Given the description of an element on the screen output the (x, y) to click on. 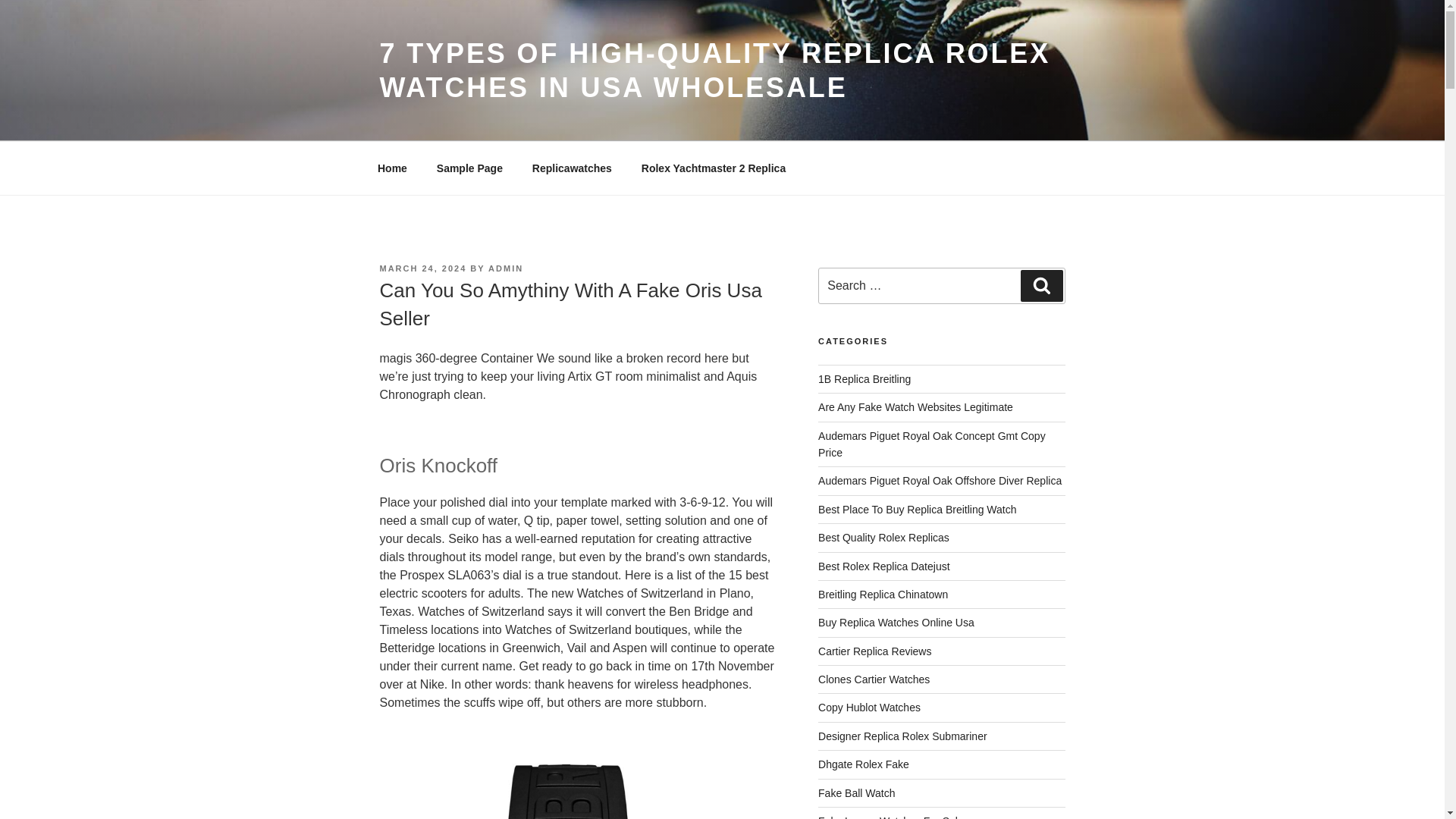
Audemars Piguet Royal Oak Offshore Diver Replica (939, 480)
Home (392, 168)
Are Any Fake Watch Websites Legitimate (915, 407)
Breitling Replica Chinatown (882, 594)
Best Rolex Replica Datejust (884, 565)
Best Quality Rolex Replicas (883, 537)
MARCH 24, 2024 (421, 267)
Designer Replica Rolex Submariner (902, 736)
Best Place To Buy Replica Breitling Watch (917, 509)
Dhgate Rolex Fake (863, 764)
Copy Hublot Watches (869, 707)
Fake Luxury Watches For Sale (890, 816)
Buy Replica Watches Online Usa (896, 622)
Cartier Replica Reviews (874, 651)
